Given the description of an element on the screen output the (x, y) to click on. 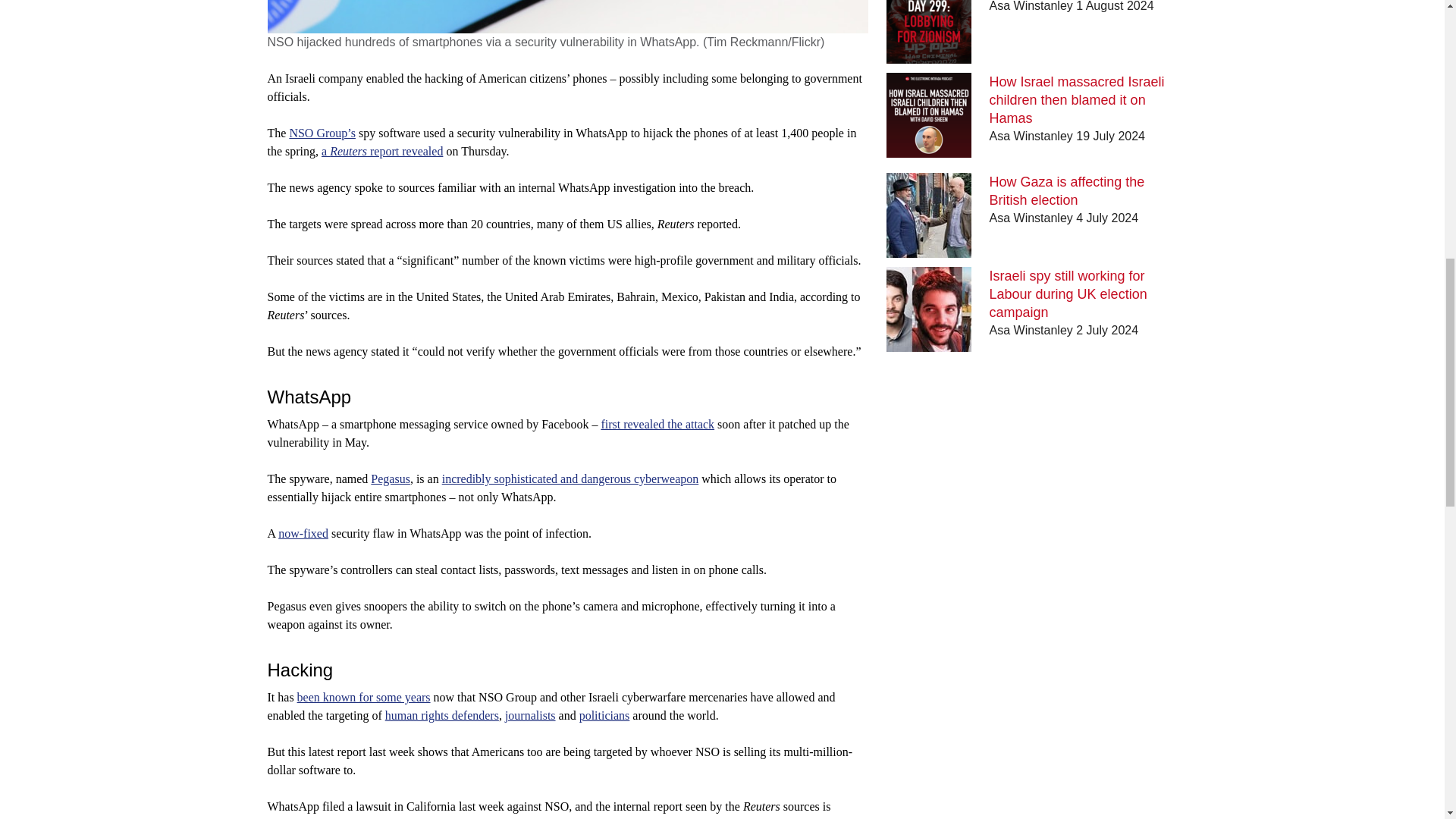
incredibly sophisticated and dangerous cyberweapon (570, 478)
first revealed the attack (656, 423)
now-fixed (303, 533)
politicians (604, 715)
Pegasus (390, 478)
a Reuters report revealed (381, 151)
human rights defenders (442, 715)
journalists (530, 715)
been known for some years (363, 697)
